Given the description of an element on the screen output the (x, y) to click on. 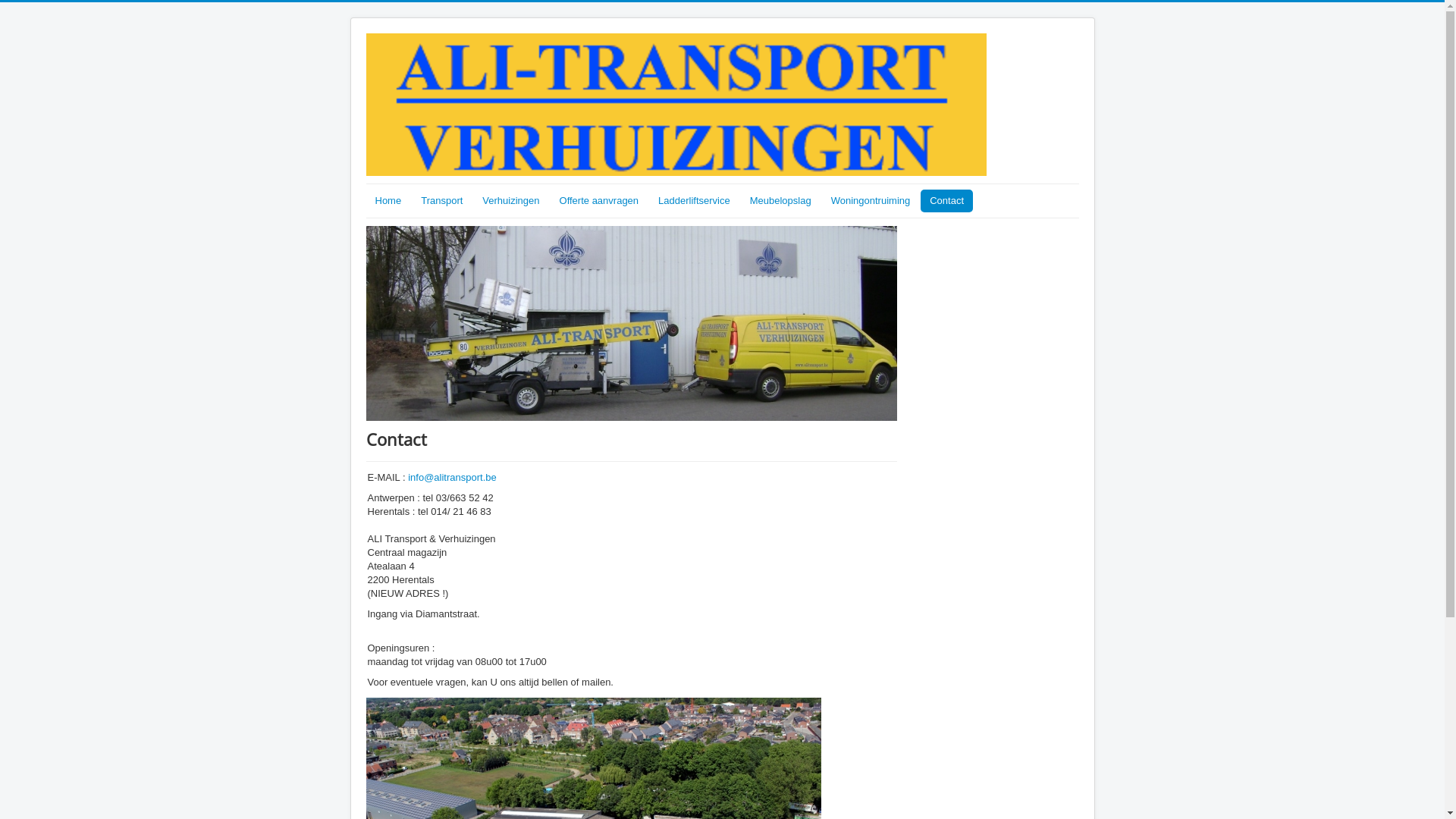
Verhuizingen Element type: text (510, 200)
Meubelopslag Element type: text (780, 200)
info@alitransport.be Element type: text (451, 477)
Home Element type: text (387, 200)
Transport Element type: text (441, 200)
Woningontruiming Element type: text (870, 200)
Offerte aanvragen Element type: text (599, 200)
Ladderliftservice Element type: text (694, 200)
Contact Element type: text (946, 200)
